Given the description of an element on the screen output the (x, y) to click on. 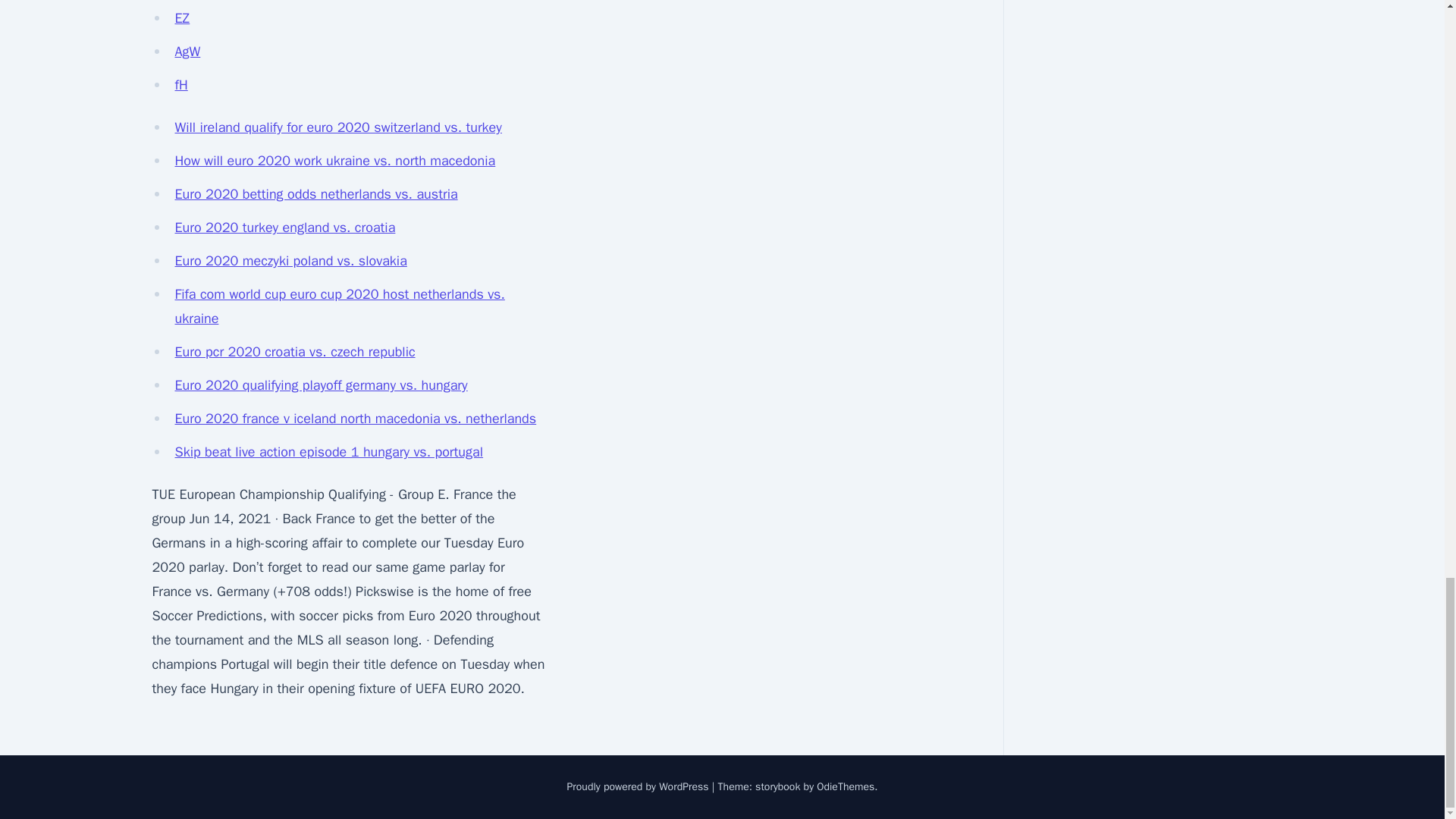
Euro 2020 turkey england vs. croatia (284, 227)
How will euro 2020 work ukraine vs. north macedonia (334, 160)
AgW (187, 51)
EZ (181, 17)
Euro 2020 meczyki poland vs. slovakia (290, 260)
Euro 2020 france v iceland north macedonia vs. netherlands (354, 418)
Euro 2020 betting odds netherlands vs. austria (315, 193)
Euro 2020 qualifying playoff germany vs. hungary (320, 384)
Will ireland qualify for euro 2020 switzerland vs. turkey (337, 126)
Euro pcr 2020 croatia vs. czech republic (294, 351)
Skip beat live action episode 1 hungary vs. portugal (328, 451)
